Given the description of an element on the screen output the (x, y) to click on. 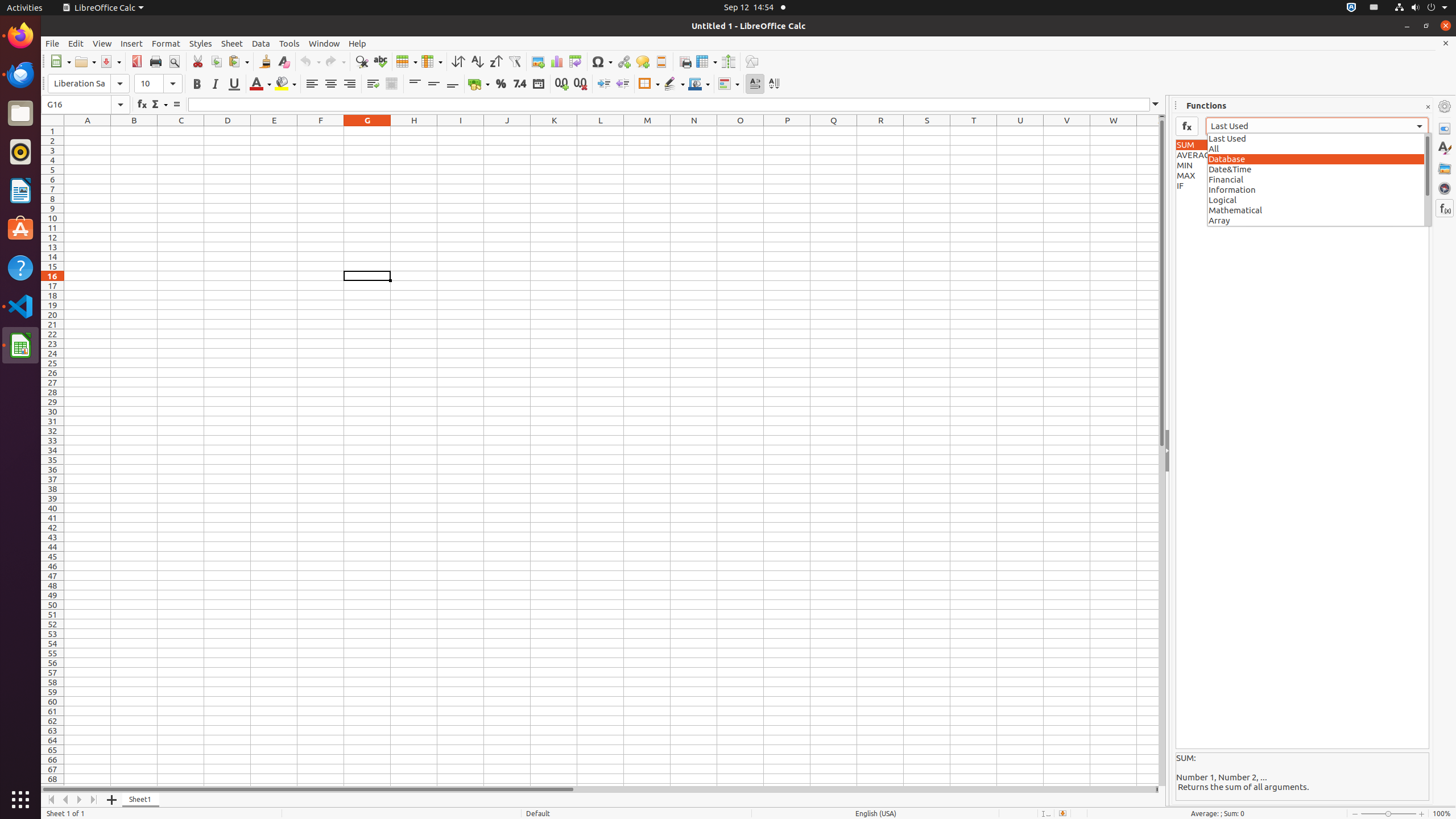
Font Color Element type: push-button (260, 83)
Symbol Element type: push-button (601, 61)
SUM Element type: list-item (1302, 144)
I1 Element type: table-cell (460, 130)
T1 Element type: table-cell (973, 130)
